Given the description of an element on the screen output the (x, y) to click on. 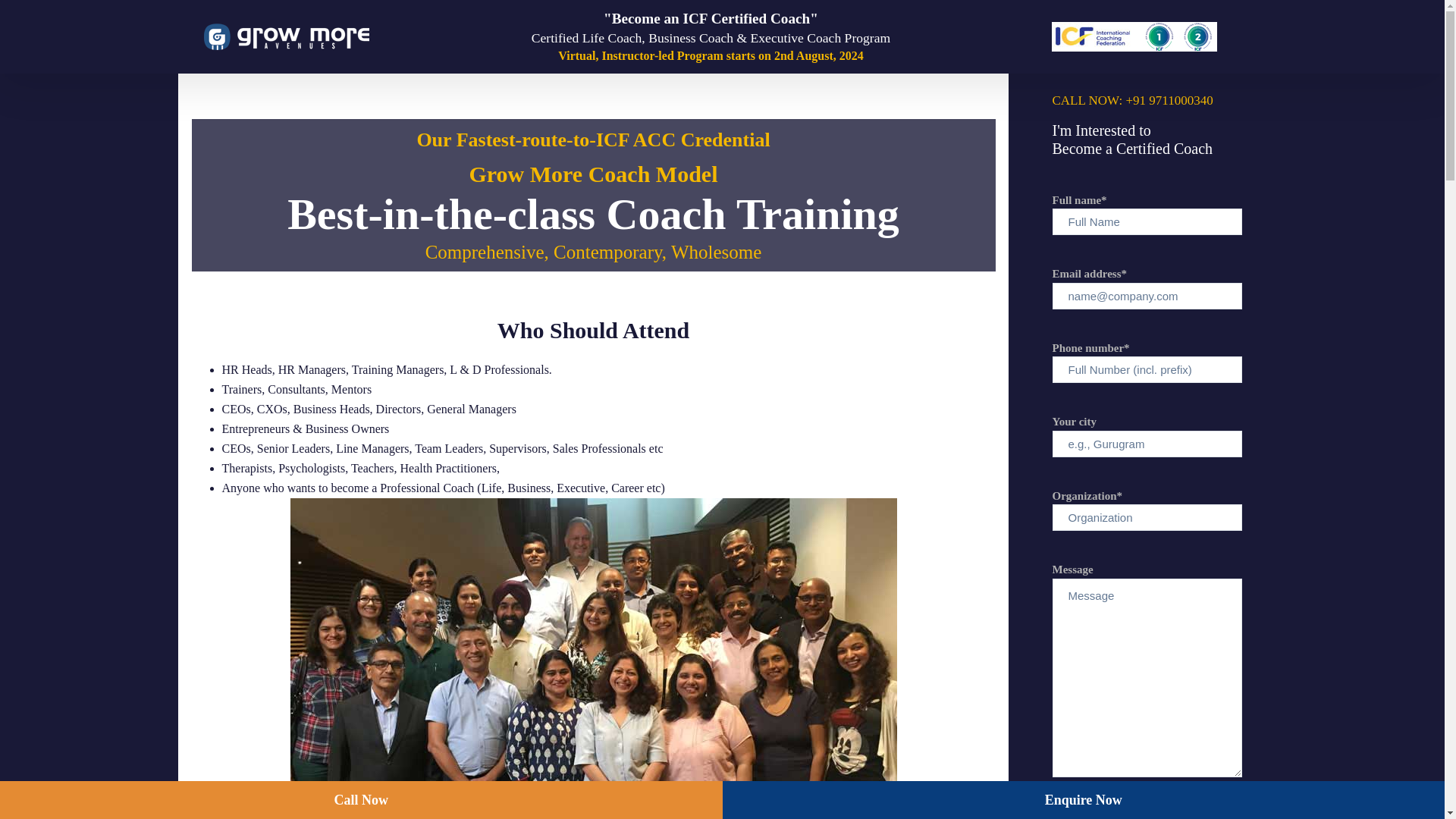
Send Message (1146, 804)
Send Message (1146, 804)
